Given the description of an element on the screen output the (x, y) to click on. 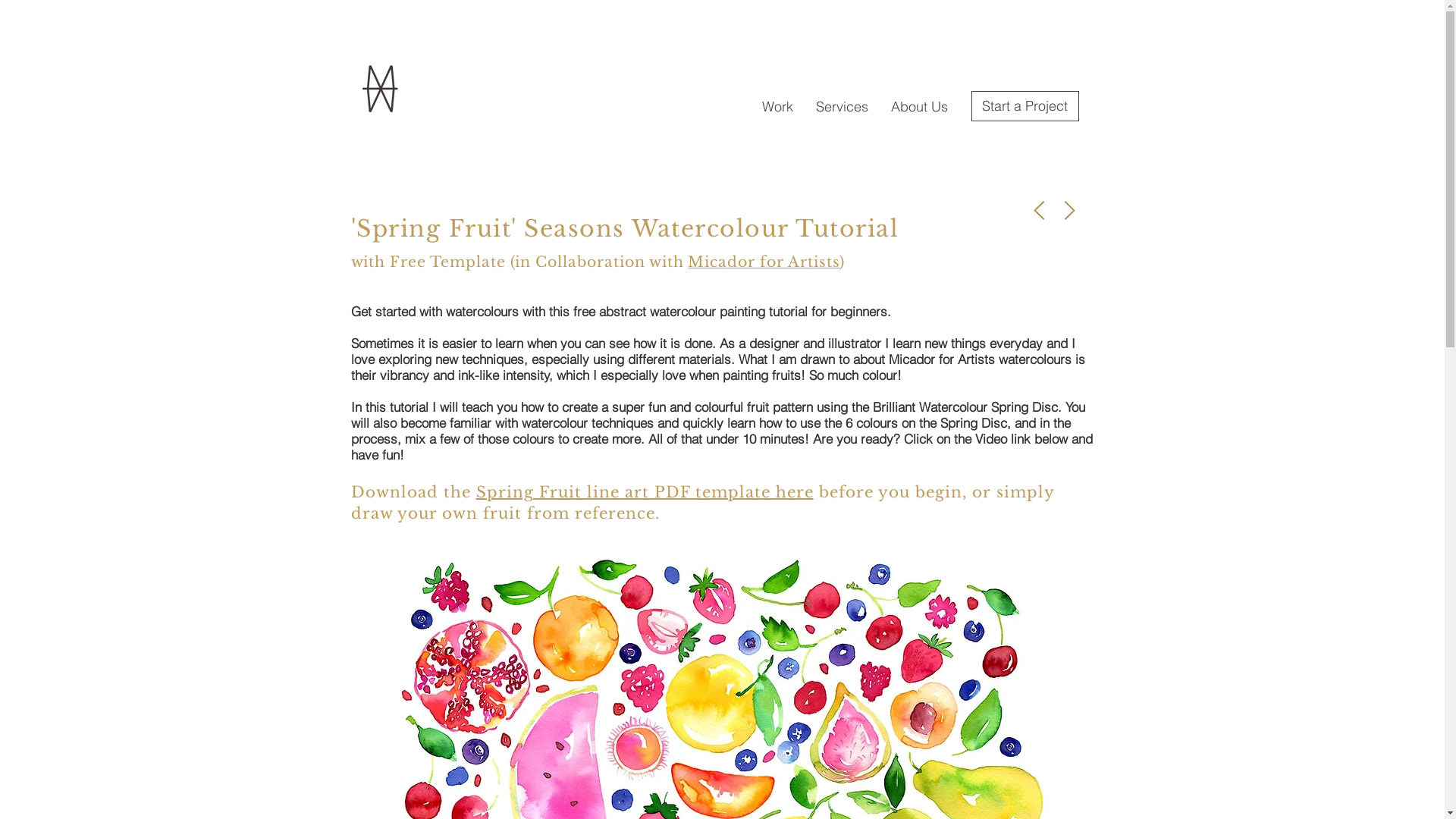
About Us Element type: text (919, 106)
Start a Project Element type: text (1024, 106)
Work Element type: text (777, 106)
Services Element type: text (841, 106)
Micador for Artists Element type: text (763, 261)
Spring Fruit line art PDF template here Element type: text (644, 492)
